Given the description of an element on the screen output the (x, y) to click on. 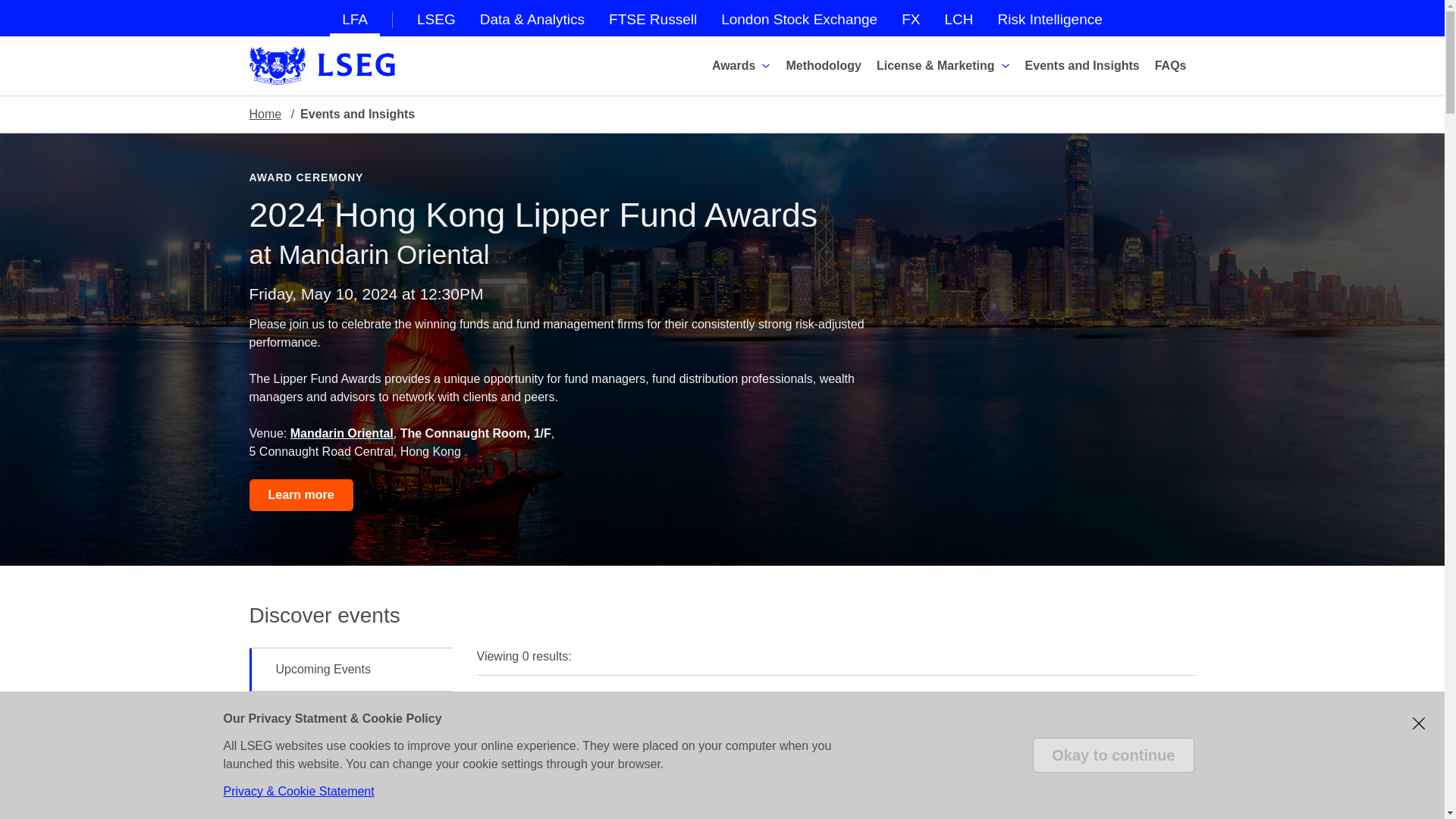
LCH (958, 17)
London Stock Exchange (799, 17)
Awards (743, 65)
LSEG (435, 17)
LFA (355, 18)
Methodology (824, 65)
FX (910, 17)
Okay to continue (1112, 755)
Risk Intelligence (1049, 17)
FTSE Russell (652, 17)
